Given the description of an element on the screen output the (x, y) to click on. 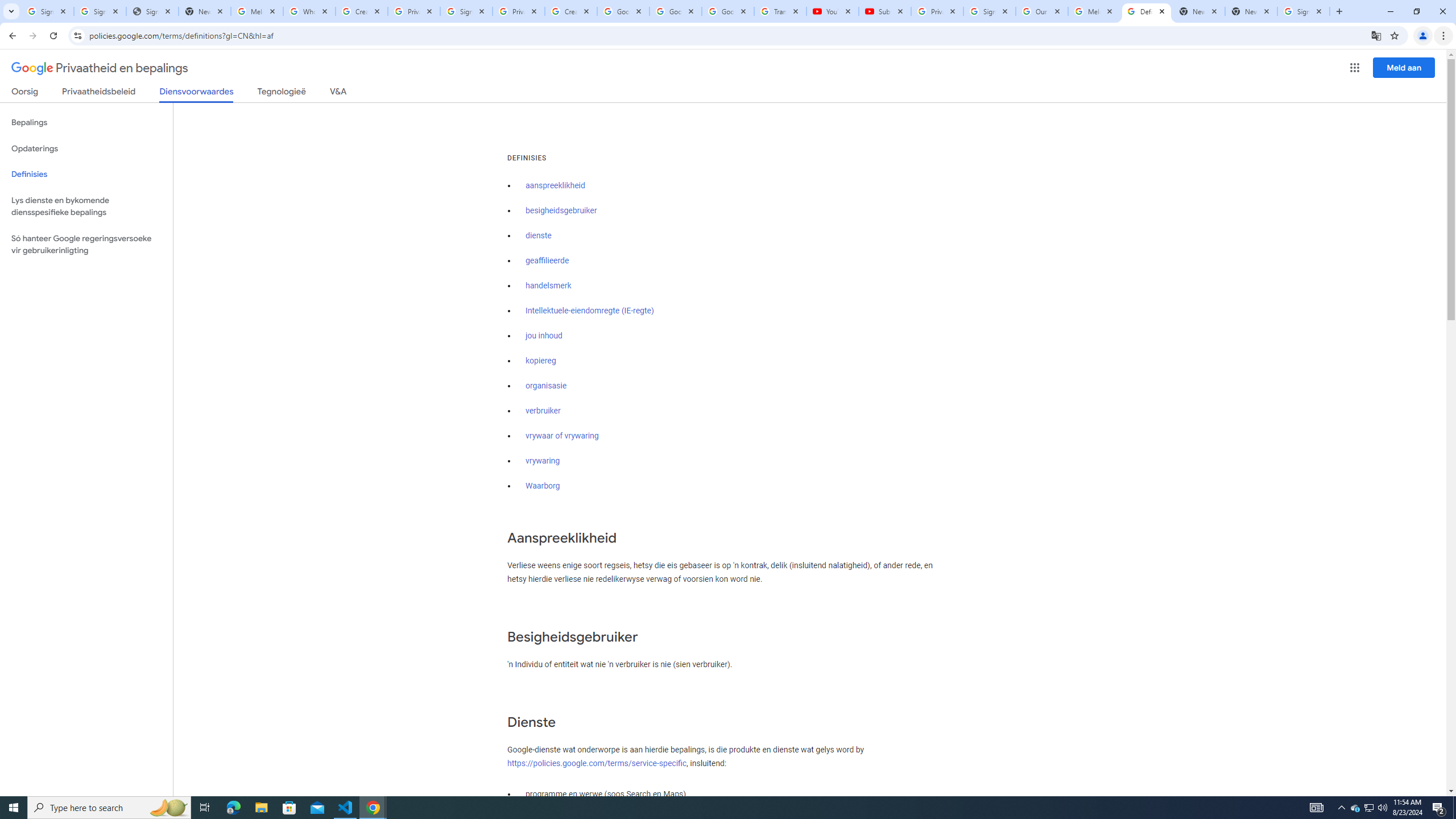
Intellektuele-eiendomregte (IE-regte) (589, 311)
Google-programme (1355, 67)
Sign in - Google Accounts (989, 11)
vrywaring (542, 461)
geaffilieerde (547, 260)
